Given the description of an element on the screen output the (x, y) to click on. 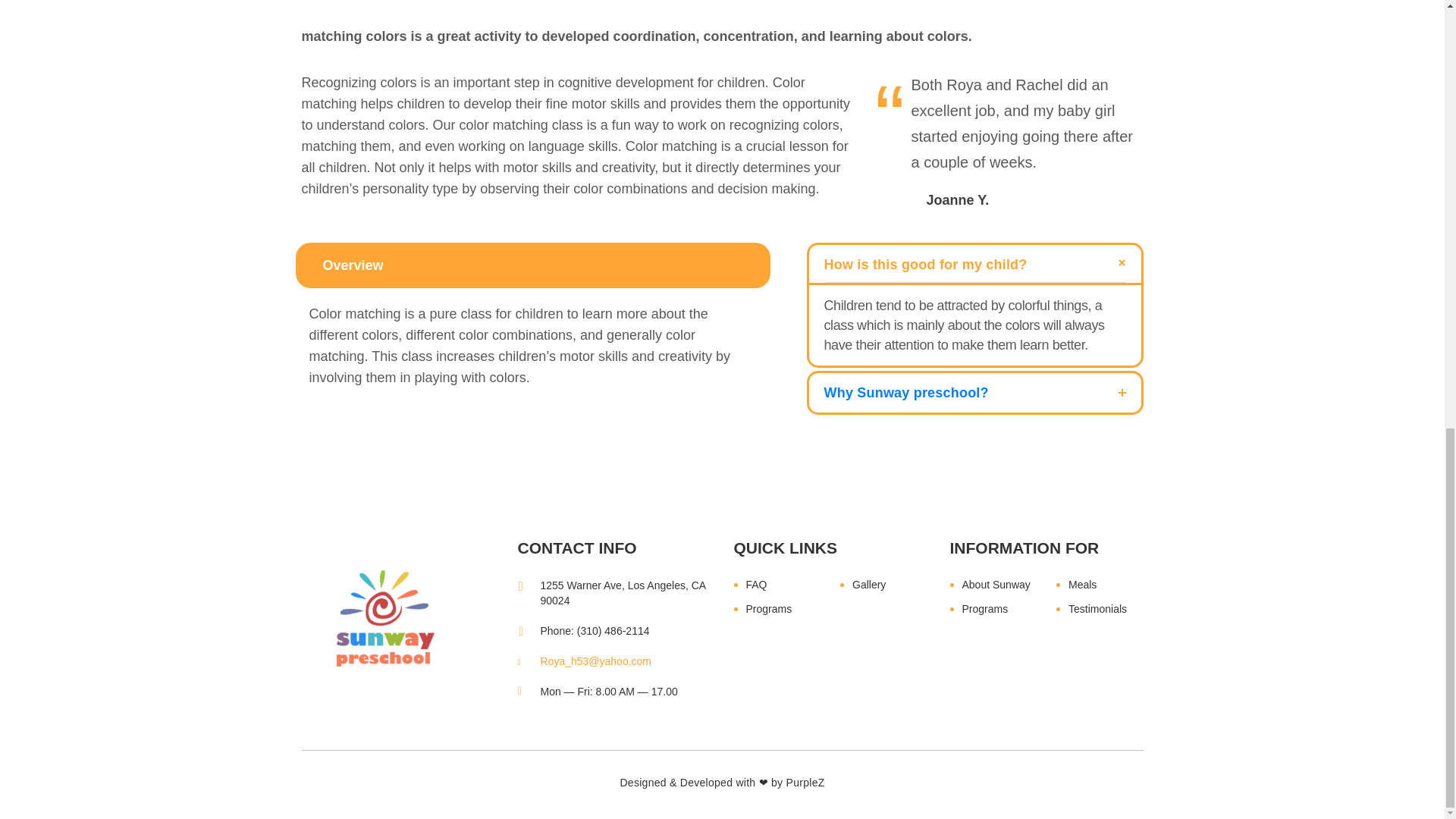
Programs (782, 608)
Why Sunway preschool? (974, 392)
Overview (352, 265)
Gallery (883, 584)
How is this good for my child? (974, 262)
FAQ (782, 584)
